Given the description of an element on the screen output the (x, y) to click on. 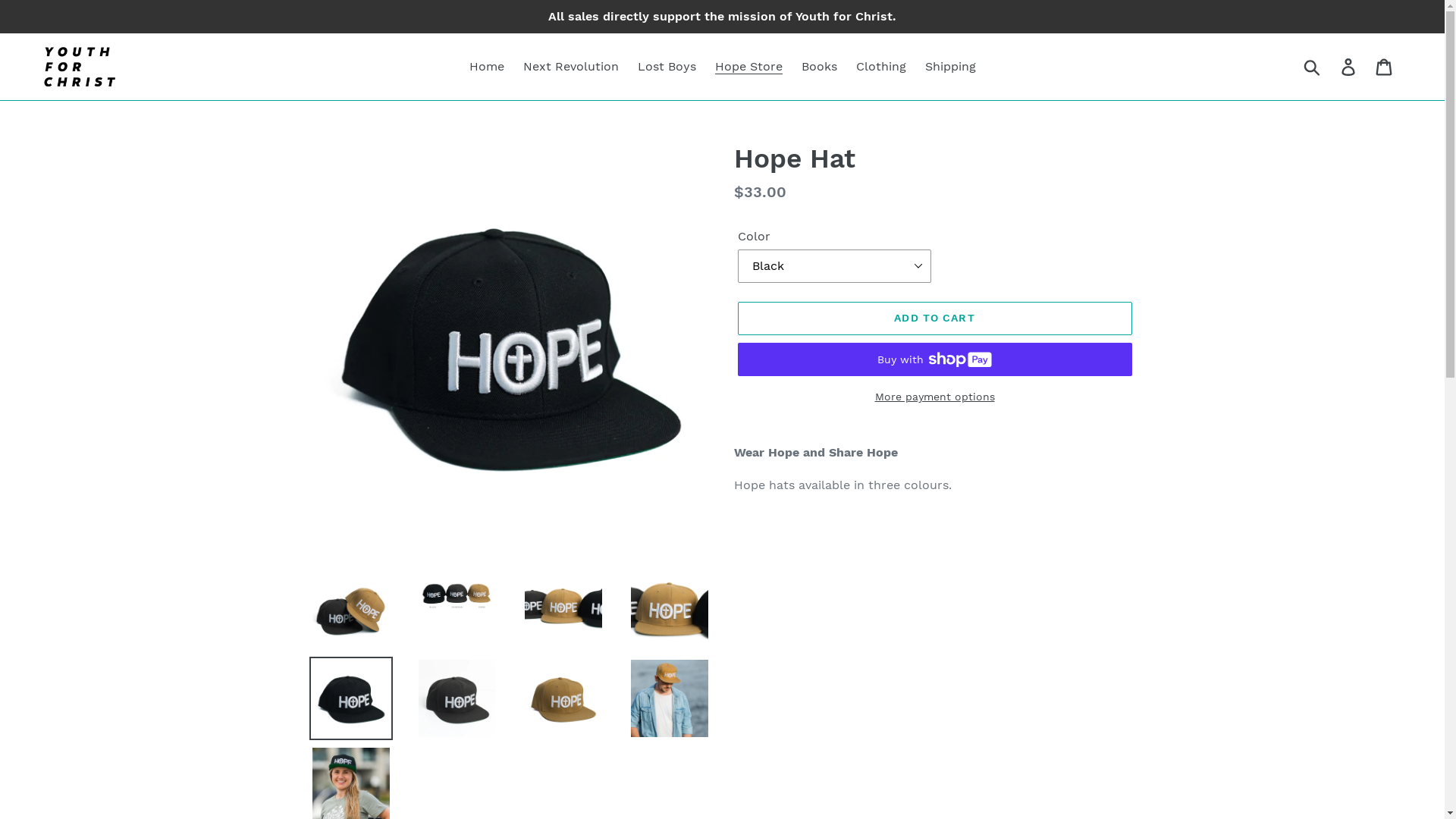
Next Revolution Element type: text (570, 66)
Hope Store Element type: text (747, 66)
More payment options Element type: text (934, 396)
Log in Element type: text (1349, 67)
Cart Element type: text (1384, 67)
Lost Boys Element type: text (665, 66)
Shipping Element type: text (950, 66)
Submit Element type: text (1312, 66)
Books Element type: text (818, 66)
Clothing Element type: text (880, 66)
Home Element type: text (486, 66)
ADD TO CART Element type: text (934, 318)
